Given the description of an element on the screen output the (x, y) to click on. 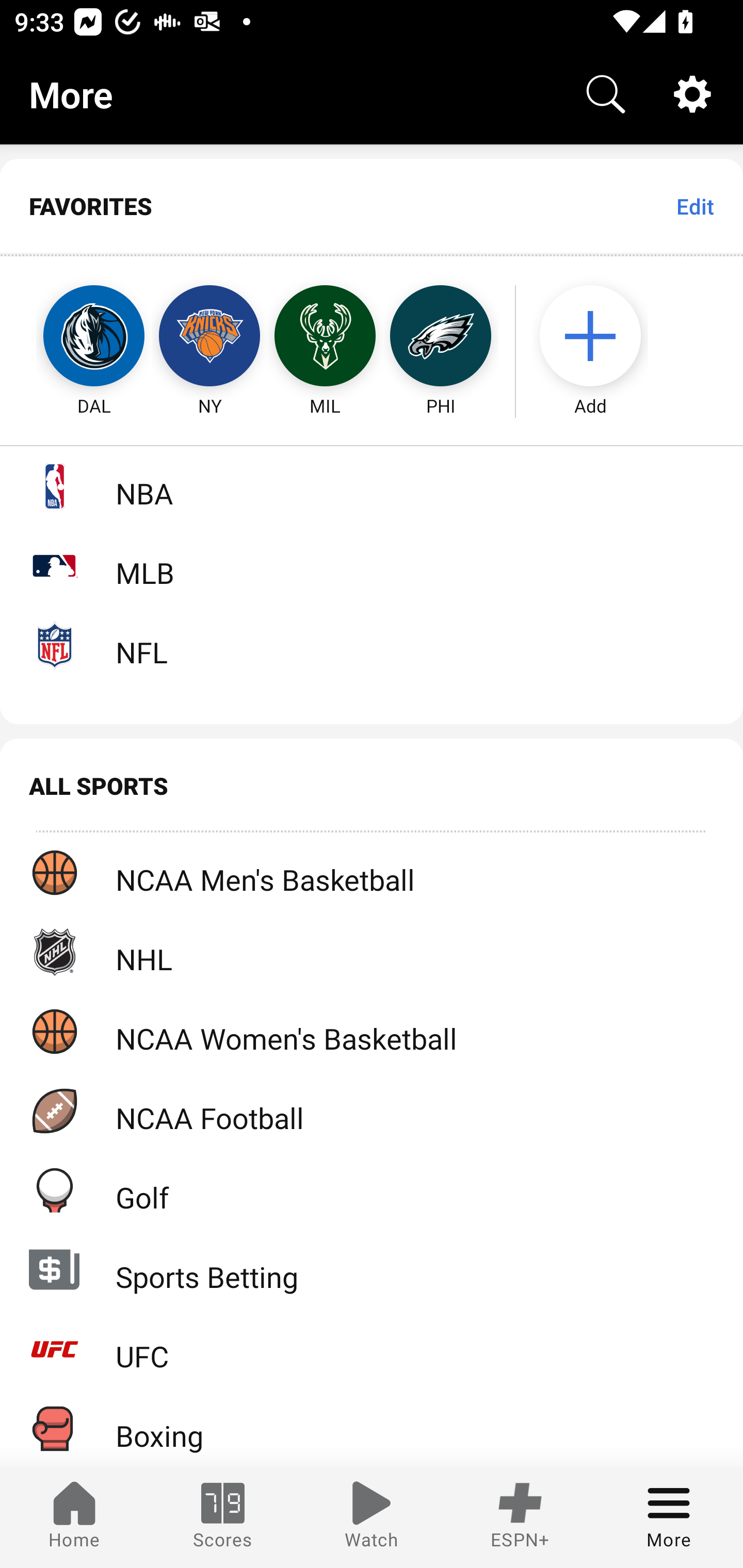
Search (605, 93)
Settings (692, 93)
Edit (695, 205)
DAL Dallas Mavericks (75, 336)
NY New York Knicks (209, 336)
MIL Milwaukee Bucks (324, 336)
PHI Philadelphia Eagles (440, 336)
 Add (599, 336)
NBA (371, 485)
MLB (371, 565)
NFL (371, 645)
NCAA Men's Basketball (371, 872)
NHL (371, 951)
NCAA Women's Basketball (371, 1030)
NCAA Football (371, 1110)
Golf (371, 1189)
Sports Betting (371, 1269)
UFC (371, 1349)
Boxing (371, 1428)
Home (74, 1517)
Scores (222, 1517)
Watch (371, 1517)
ESPN+ (519, 1517)
